Given the description of an element on the screen output the (x, y) to click on. 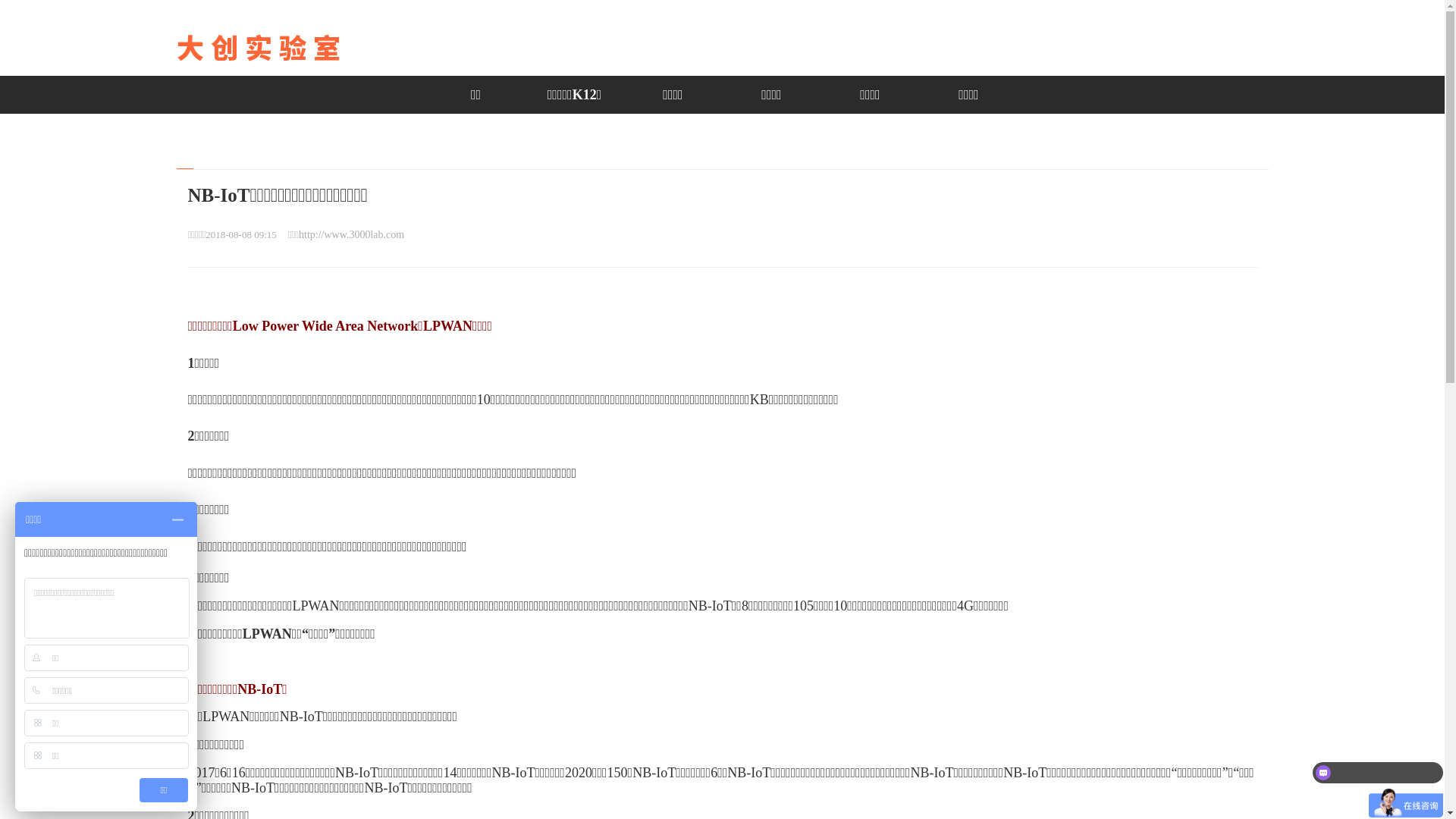
http://www.3000lab.com Element type: text (351, 234)
